Given the description of an element on the screen output the (x, y) to click on. 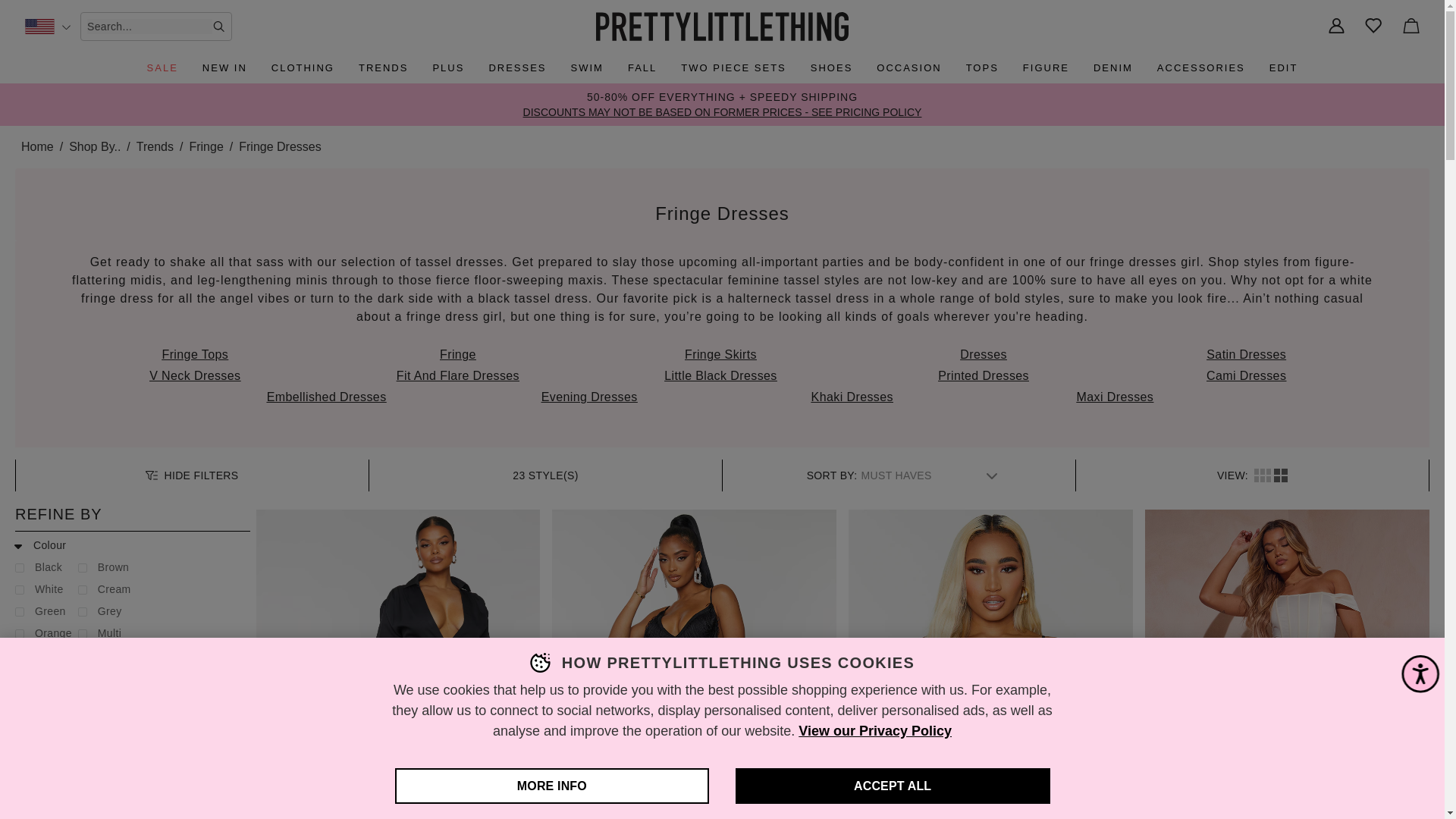
SALE (162, 68)
TOPS (981, 68)
My Wishlist (1373, 27)
Search (218, 26)
NEW IN (224, 68)
CLOTHING (302, 68)
EDIT (1283, 68)
My Account (1335, 27)
TRENDS (382, 68)
PLUS (448, 68)
